Given the description of an element on the screen output the (x, y) to click on. 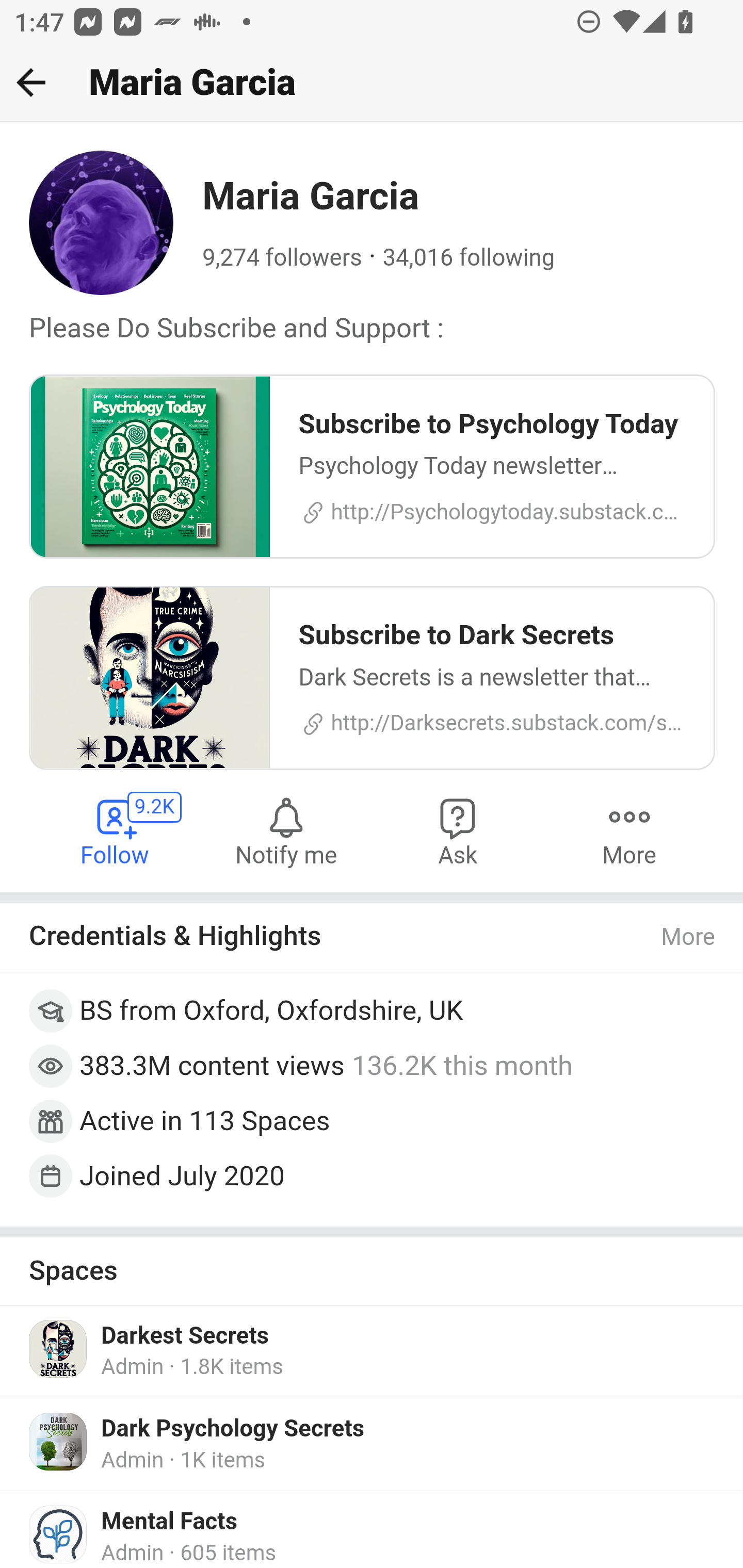
Back Maria Garcia (371, 82)
Back (30, 82)
9,274 followers (282, 257)
34,016 following (468, 257)
Follow Maria Garcia 9.2K Follow (115, 830)
Notify me (285, 830)
Ask (458, 830)
More (628, 830)
More (688, 938)
Icon for Darkest Secrets (58, 1348)
Darkest Secrets (184, 1335)
Icon for Dark Psychology Secrets (58, 1441)
Dark Psychology Secrets (233, 1429)
Icon for Mental Facts (58, 1534)
Mental Facts (169, 1521)
